Given the description of an element on the screen output the (x, y) to click on. 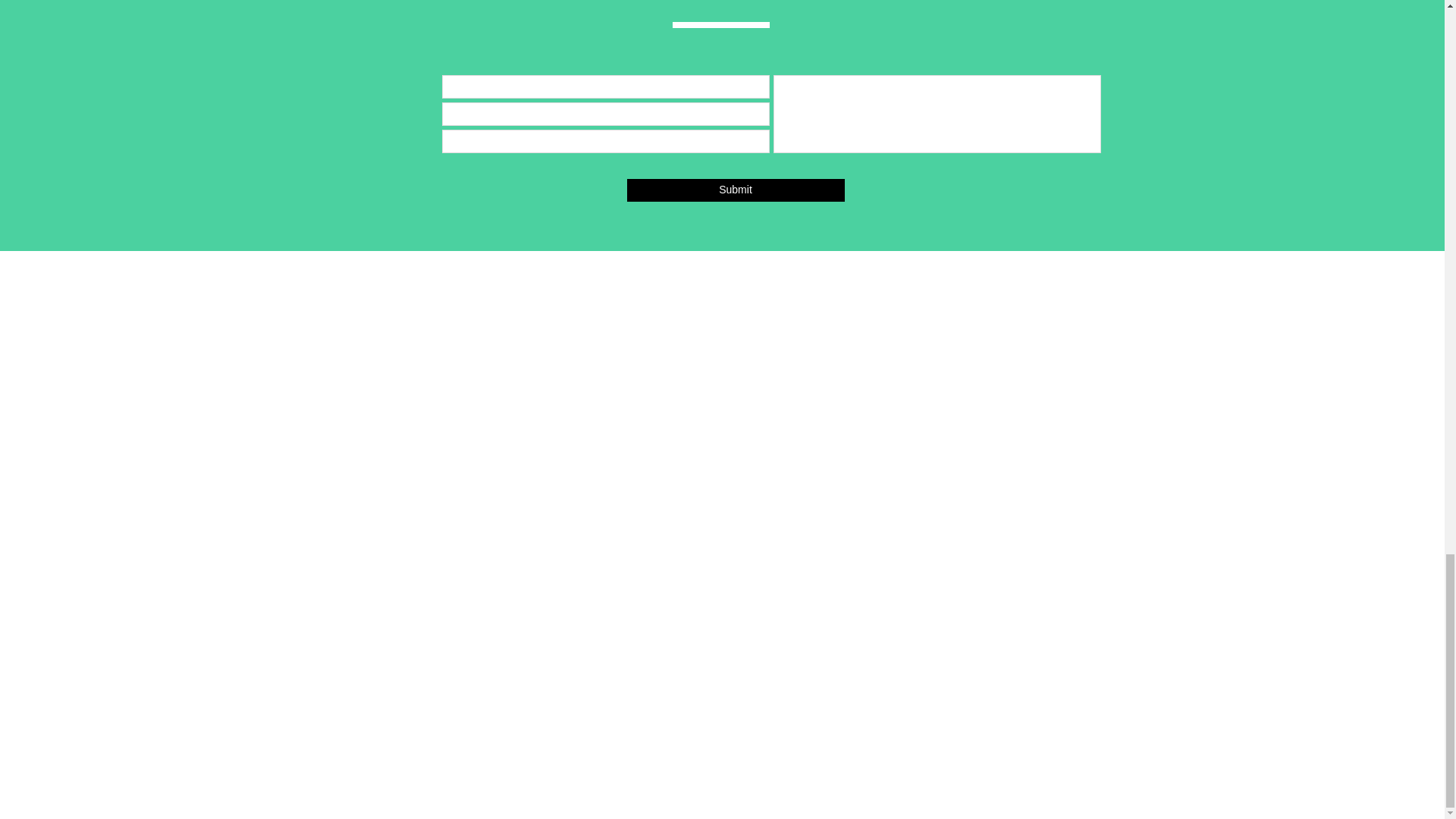
Submit (735, 190)
